Given the description of an element on the screen output the (x, y) to click on. 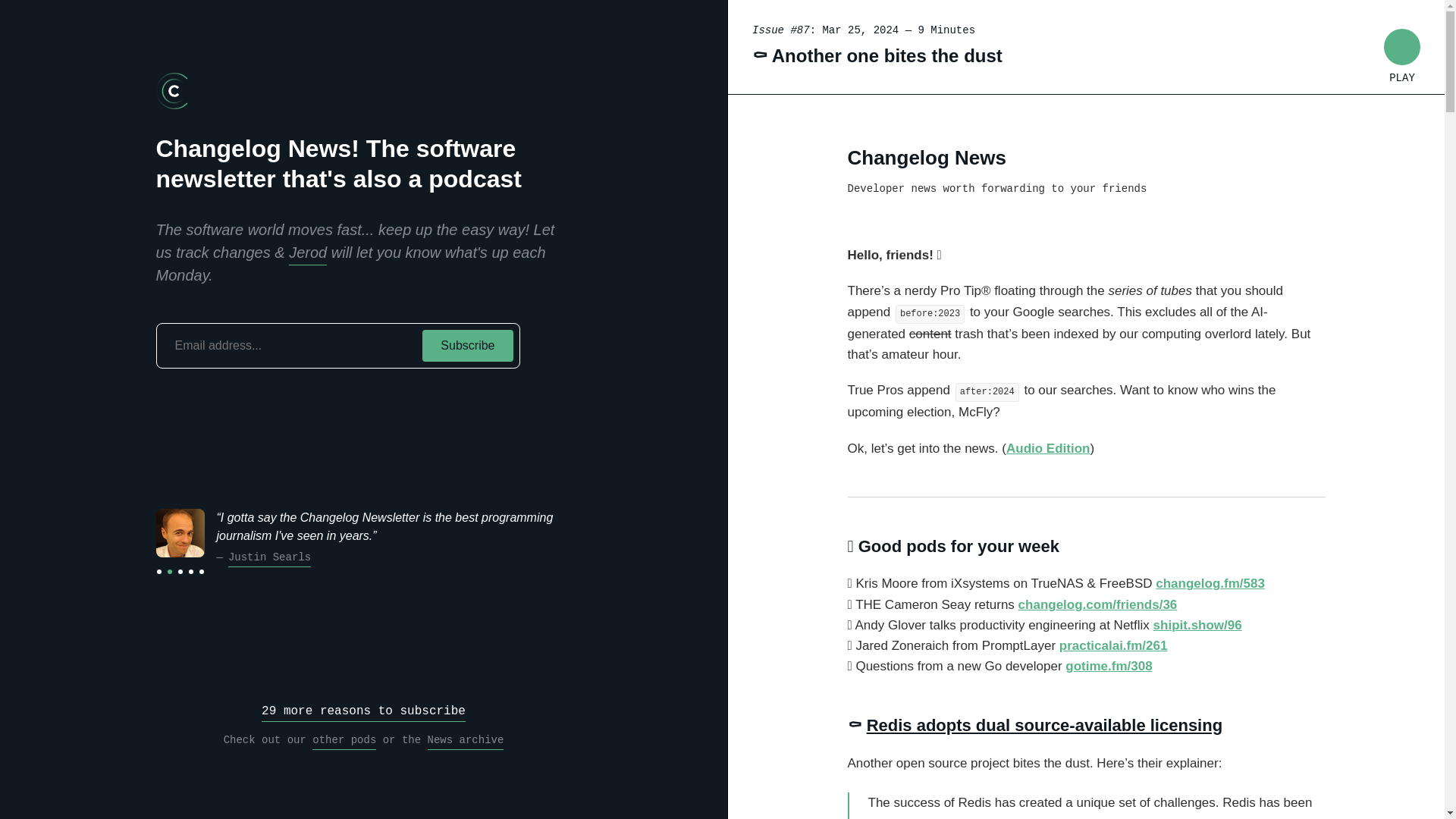
Listen on Overcast (224, 402)
29 more reasons to subscribe (363, 712)
Listen via RSS (169, 402)
News archive (465, 741)
Play Audio (1402, 46)
Listen on Spotify (278, 402)
Listen on Pocket Casts (251, 402)
Justin Searls' website (269, 559)
other pods (344, 741)
changelog.com (173, 91)
Listen on Android (306, 402)
Justin Searls (269, 559)
PLAY (1402, 46)
Jerod (307, 254)
Listen on Apple Podcasts (197, 402)
